Given the description of an element on the screen output the (x, y) to click on. 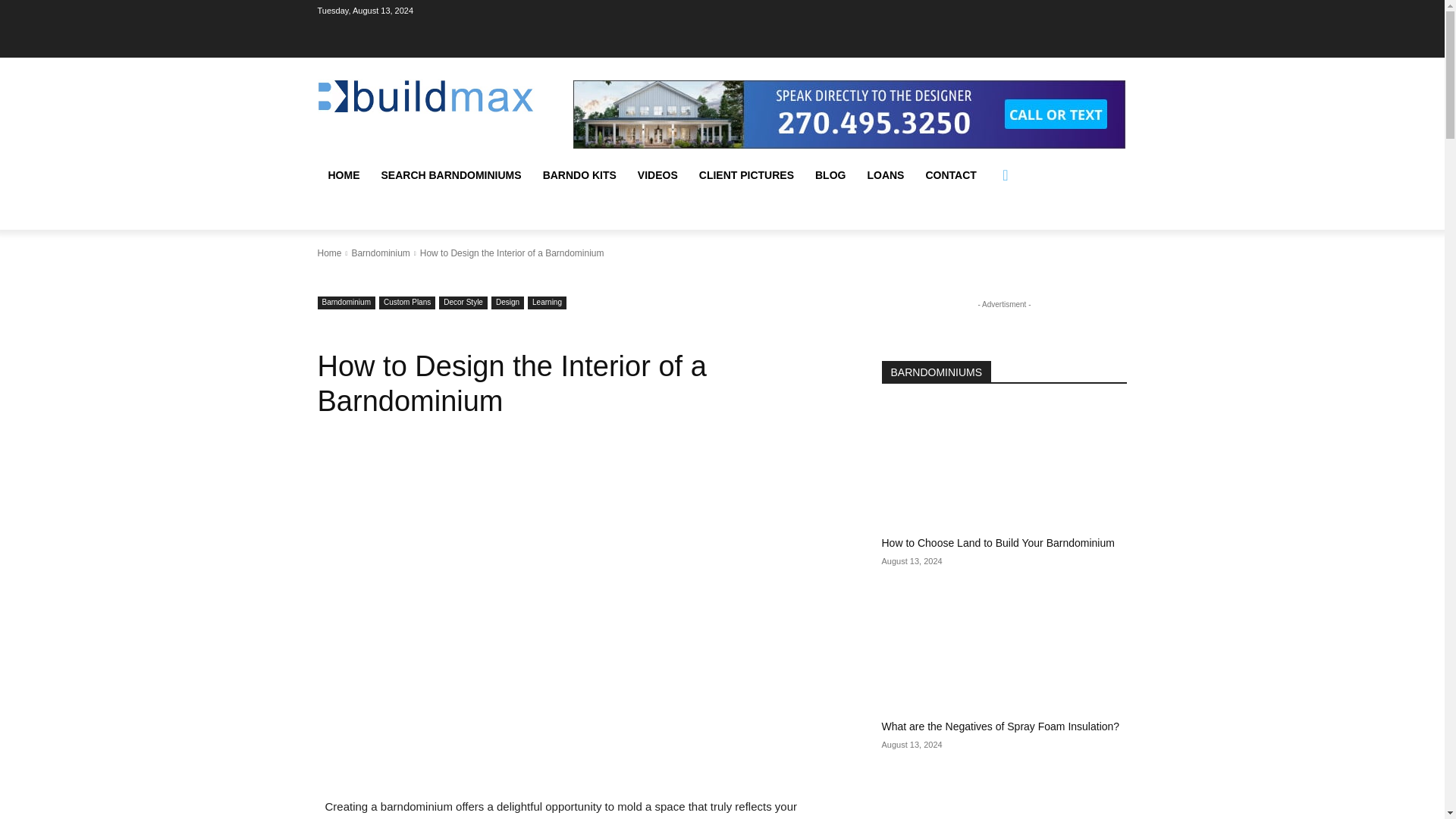
BLOG (830, 175)
Design (508, 302)
Decor Style (463, 302)
LOANS (885, 175)
Custom Plans (406, 302)
Do Barndominiums Need Roof Vents? (1003, 794)
Barndominium (379, 253)
BuildMax logo (425, 95)
Learning (546, 302)
Barndominium (345, 302)
